Given the description of an element on the screen output the (x, y) to click on. 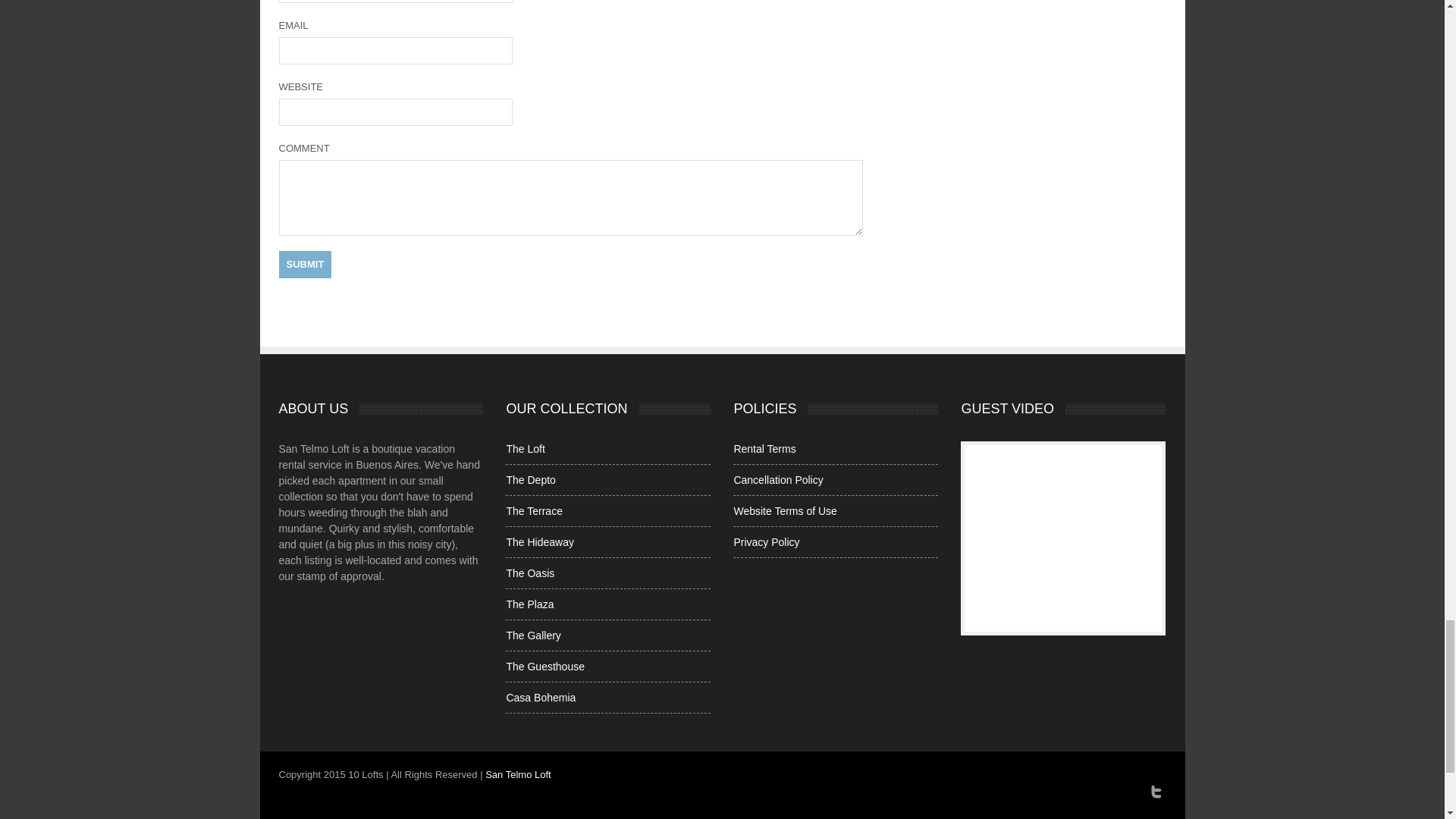
Submit (305, 264)
